Given the description of an element on the screen output the (x, y) to click on. 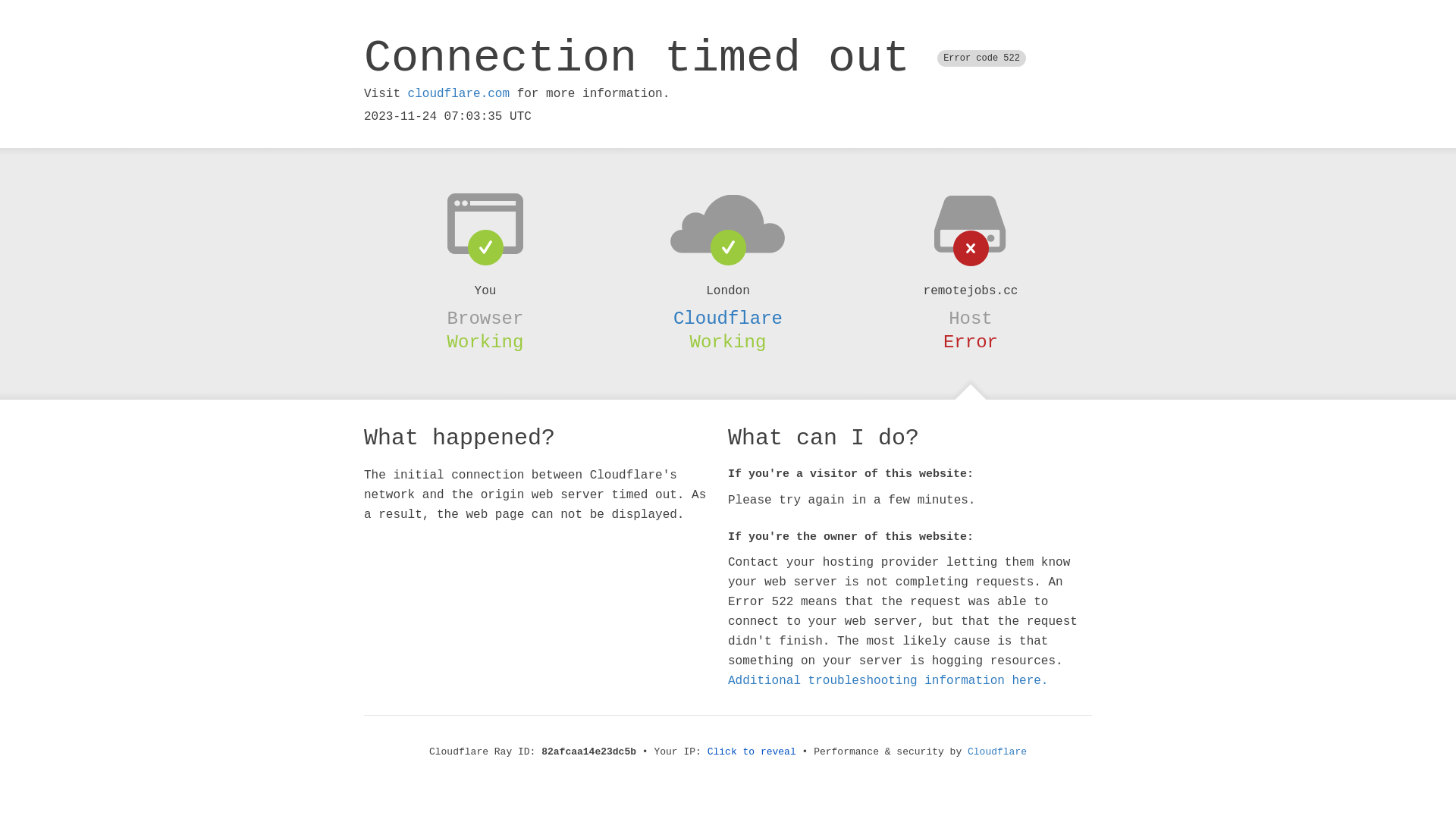
Additional troubleshooting information here. Element type: text (888, 680)
cloudflare.com Element type: text (458, 93)
Click to reveal Element type: text (751, 751)
Cloudflare Element type: text (996, 751)
Cloudflare Element type: text (727, 318)
